Given the description of an element on the screen output the (x, y) to click on. 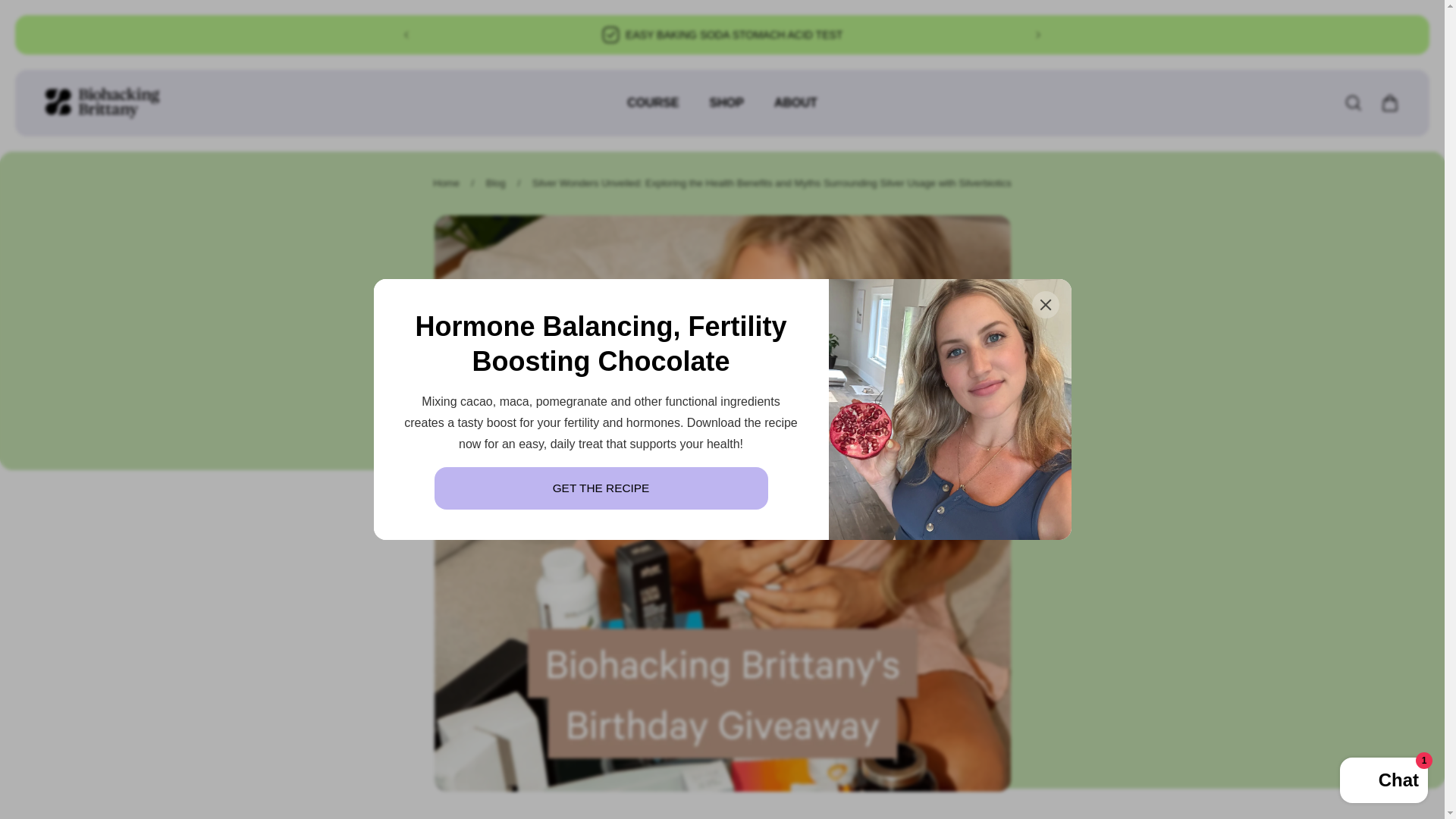
Home (446, 183)
COURSE (652, 110)
GET THE RECIPE (600, 487)
Blog (495, 183)
Shopify online store chat (1383, 781)
ABOUT (795, 110)
SHOP (726, 110)
